Given the description of an element on the screen output the (x, y) to click on. 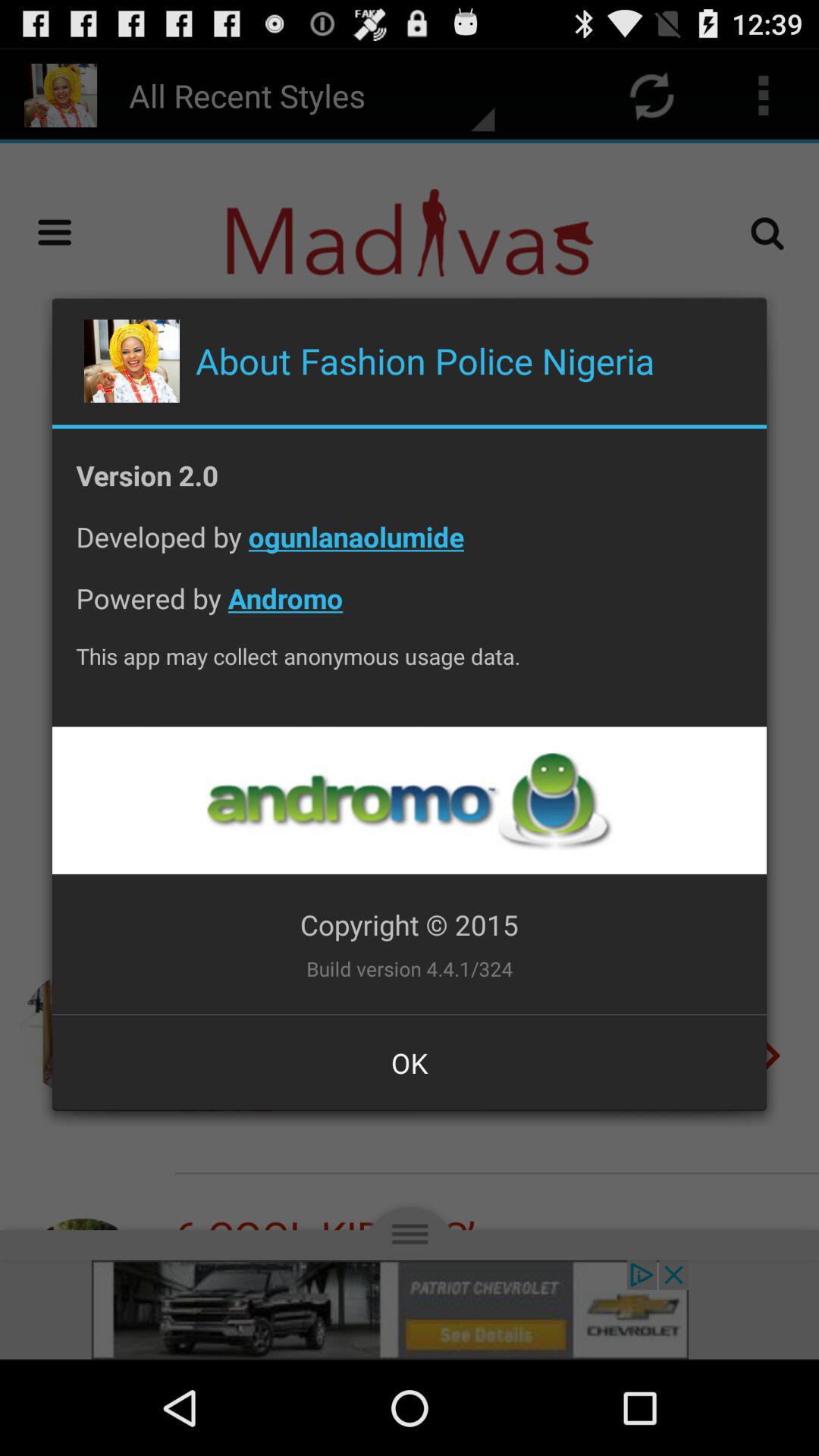
turn on the icon above the this app may icon (409, 609)
